Given the description of an element on the screen output the (x, y) to click on. 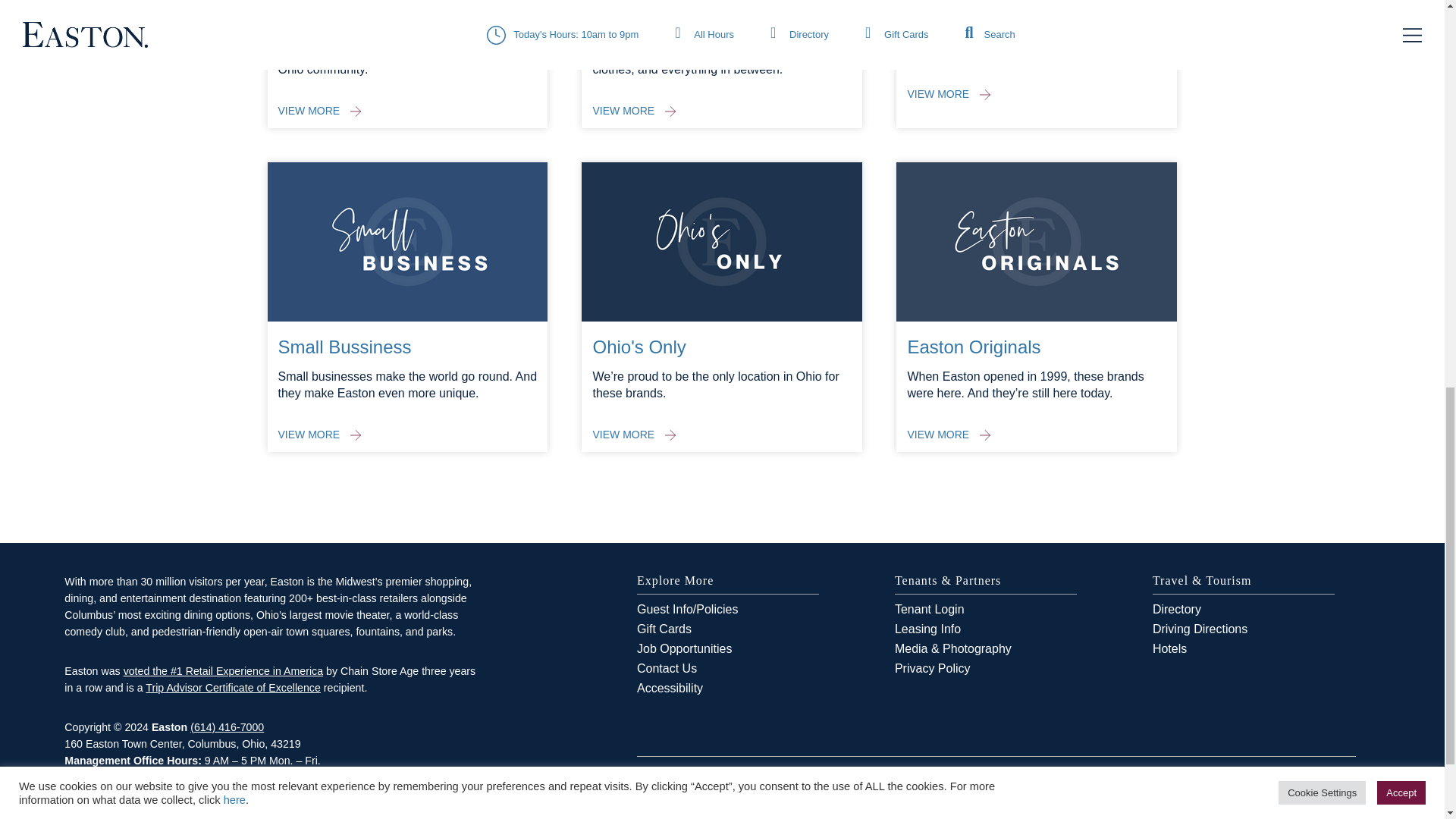
VIEW MORE (633, 110)
VIEW MORE (319, 110)
VIEW MORE (319, 434)
VIEW MORE (948, 93)
Minority-Owned (341, 8)
Small Bussiness (344, 346)
Woman-Owned (654, 8)
Ohio's Only (638, 346)
Locally-Owned (967, 8)
VIEW MORE (633, 434)
